Given the description of an element on the screen output the (x, y) to click on. 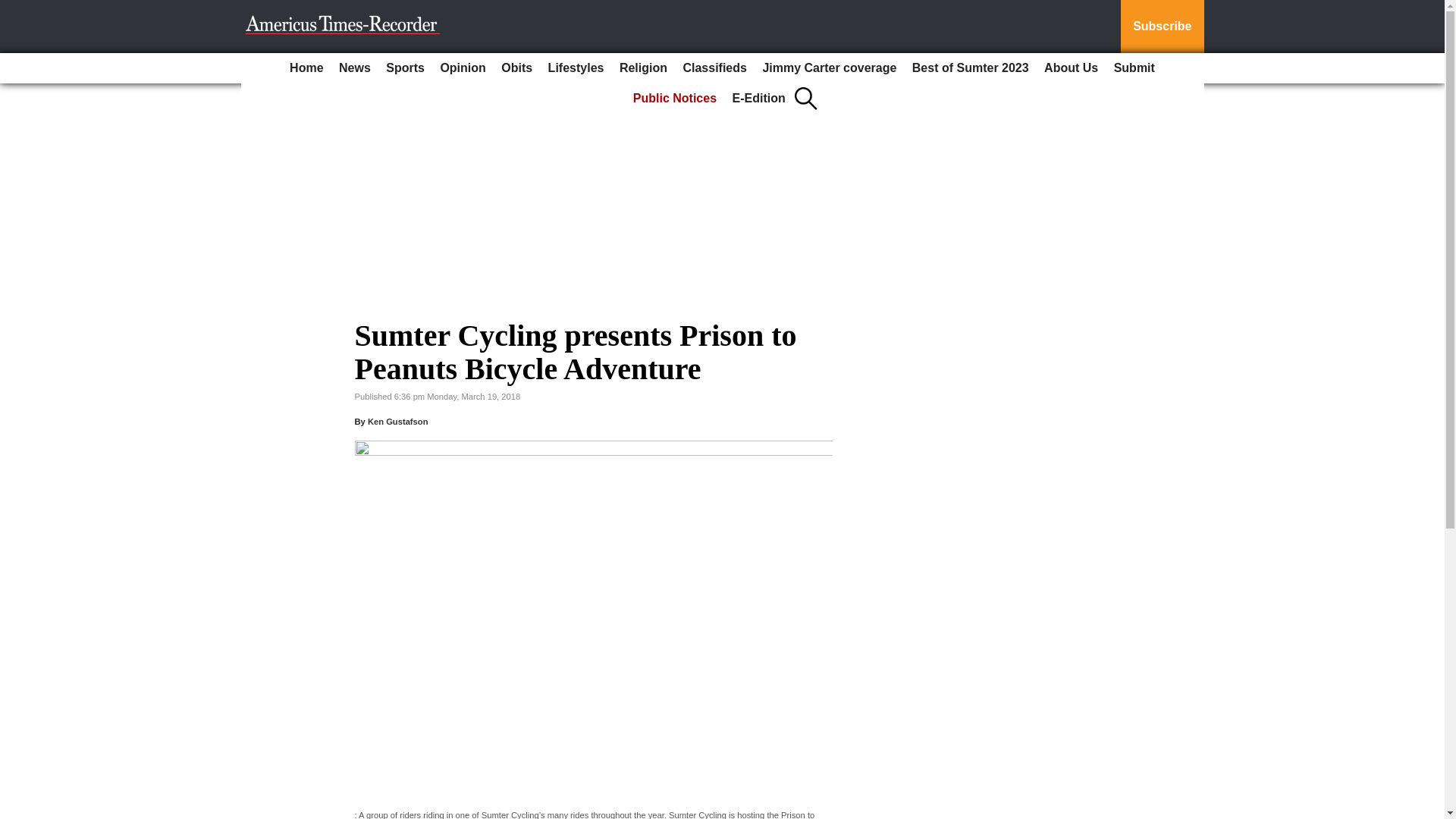
Ken Gustafson (398, 420)
Opinion (462, 68)
Home (306, 68)
Jimmy Carter coverage (828, 68)
Obits (516, 68)
Classifieds (714, 68)
Religion (642, 68)
About Us (1070, 68)
Lifestyles (575, 68)
Sports (405, 68)
